Given the description of an element on the screen output the (x, y) to click on. 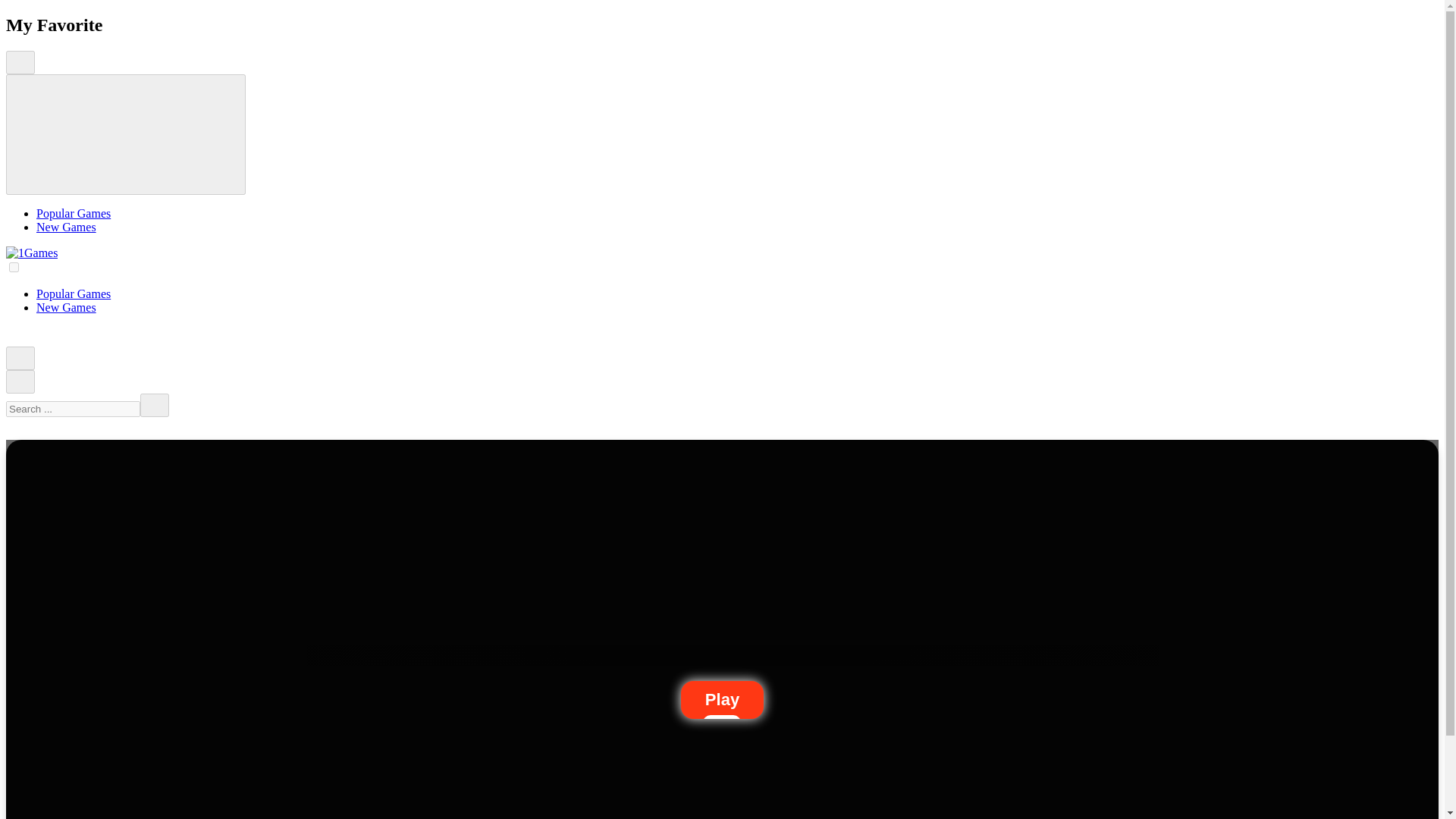
Popular Games (73, 213)
New Games (66, 307)
Popular Games (73, 293)
Play (721, 699)
New Games (66, 226)
Homepage (14, 338)
on (13, 266)
